Given the description of an element on the screen output the (x, y) to click on. 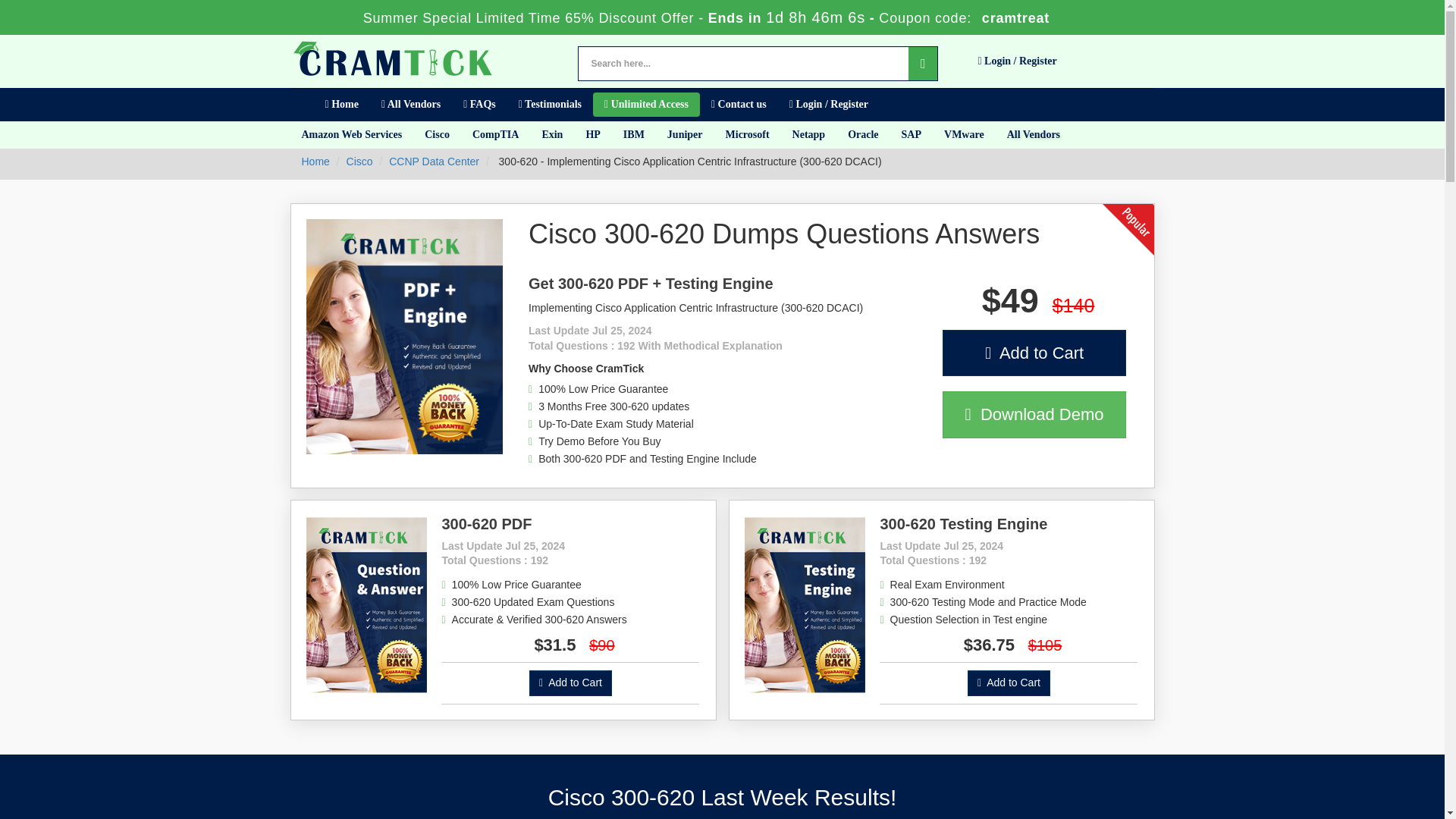
CompTIA (495, 134)
 Download Demo (1034, 414)
Home (315, 161)
Exin (551, 134)
Microsoft (747, 134)
 Add to Cart (570, 683)
Testimonials (549, 104)
Home (341, 104)
 Add to Cart (1008, 683)
Cisco (359, 161)
Cisco (437, 134)
CCNP Data Center (433, 161)
VMware (964, 134)
All Vendors (1033, 134)
All Vendors (410, 104)
